Given the description of an element on the screen output the (x, y) to click on. 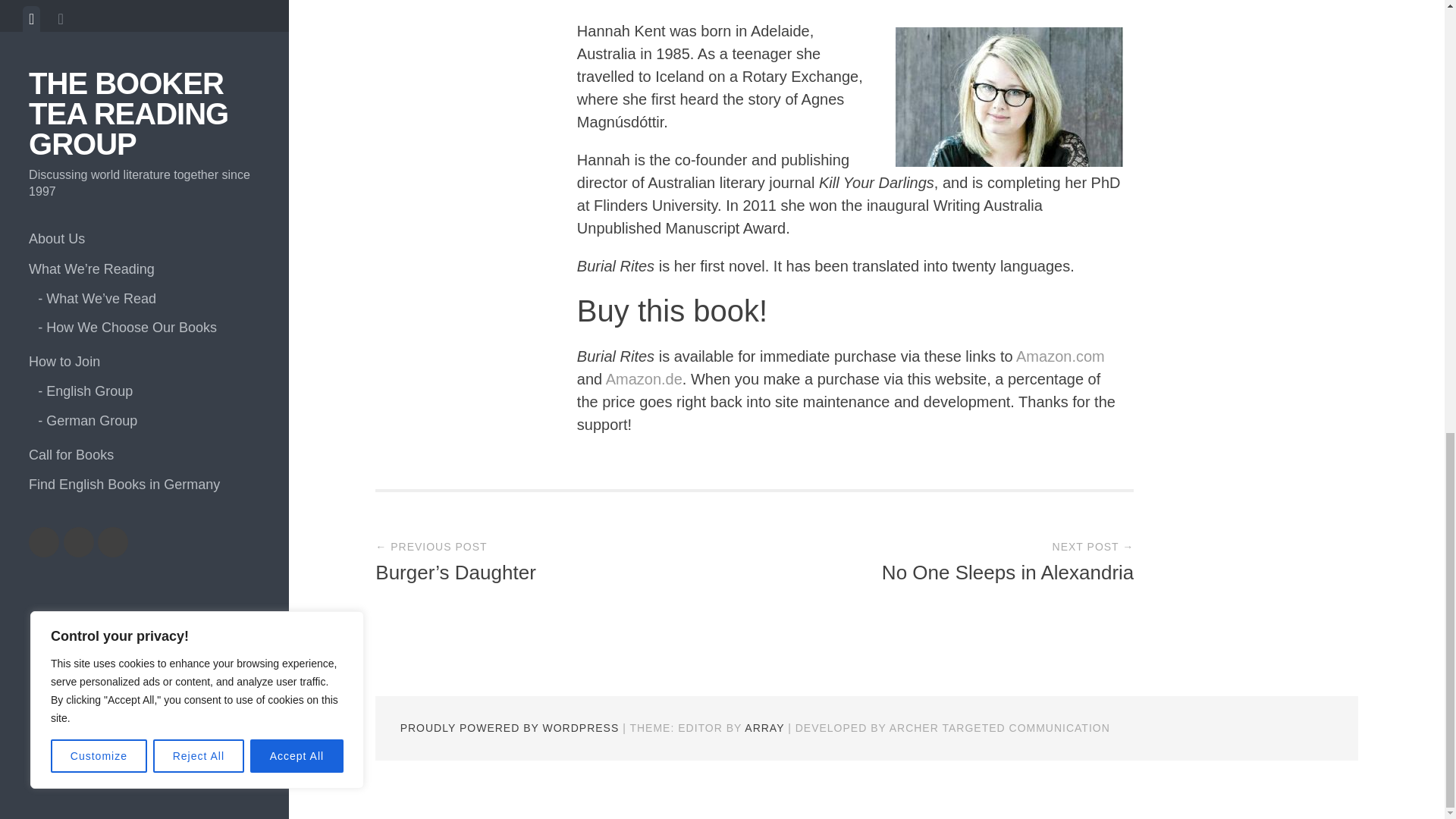
Burial Rites - Amazon.com (1060, 356)
Burial Rites - Amazon.de (643, 379)
